Given the description of an element on the screen output the (x, y) to click on. 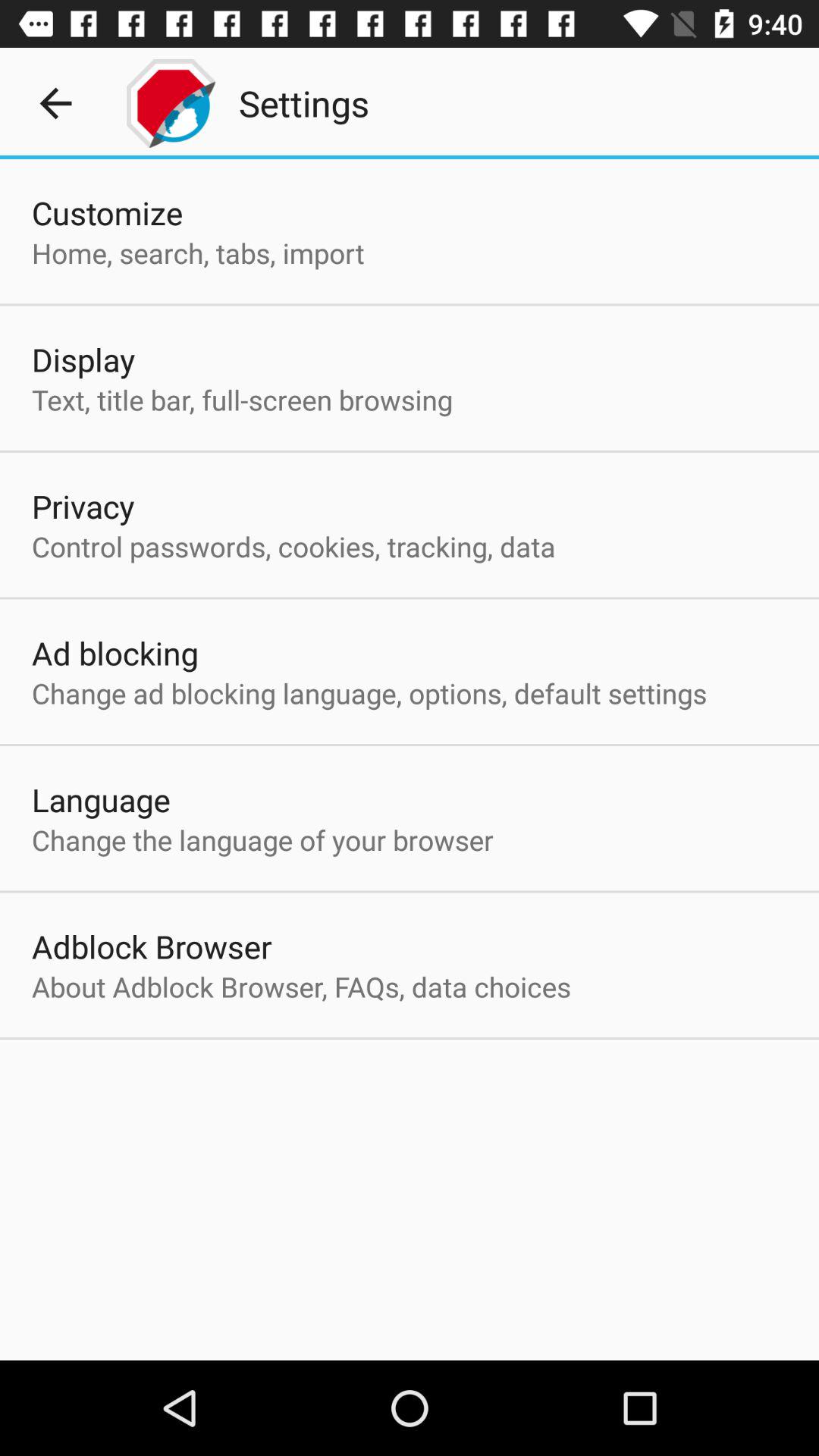
turn on icon below the display app (241, 399)
